Given the description of an element on the screen output the (x, y) to click on. 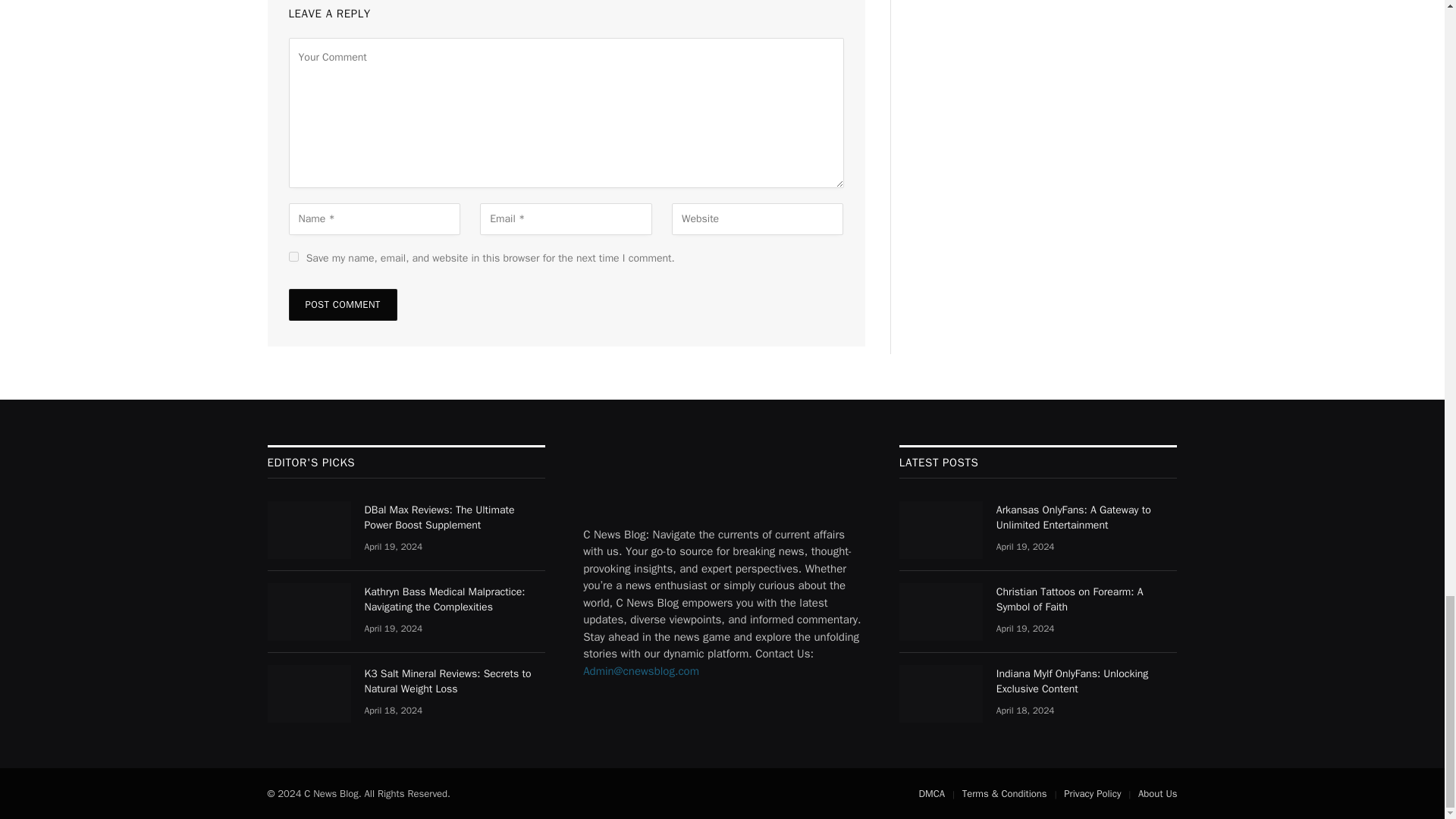
K3 Salt Mineral Reviews: Secrets to Natural Weight Loss (308, 693)
Post Comment (342, 305)
Post Comment (342, 305)
DBal Max Reviews: The Ultimate Power Boost Supplement (308, 529)
yes (293, 256)
